Given the description of an element on the screen output the (x, y) to click on. 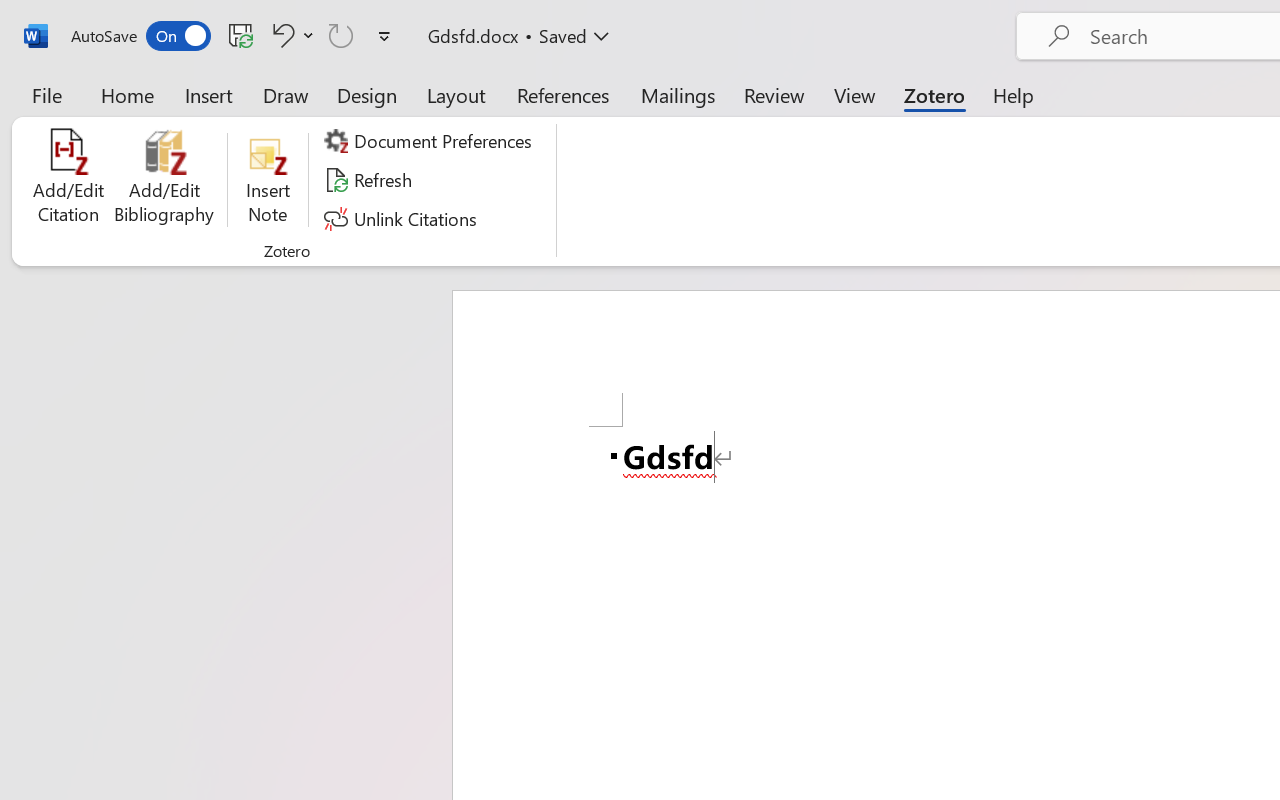
Undo <ApplyStyleToDoc>b__0 (290, 35)
Can't Repeat (341, 35)
